Given the description of an element on the screen output the (x, y) to click on. 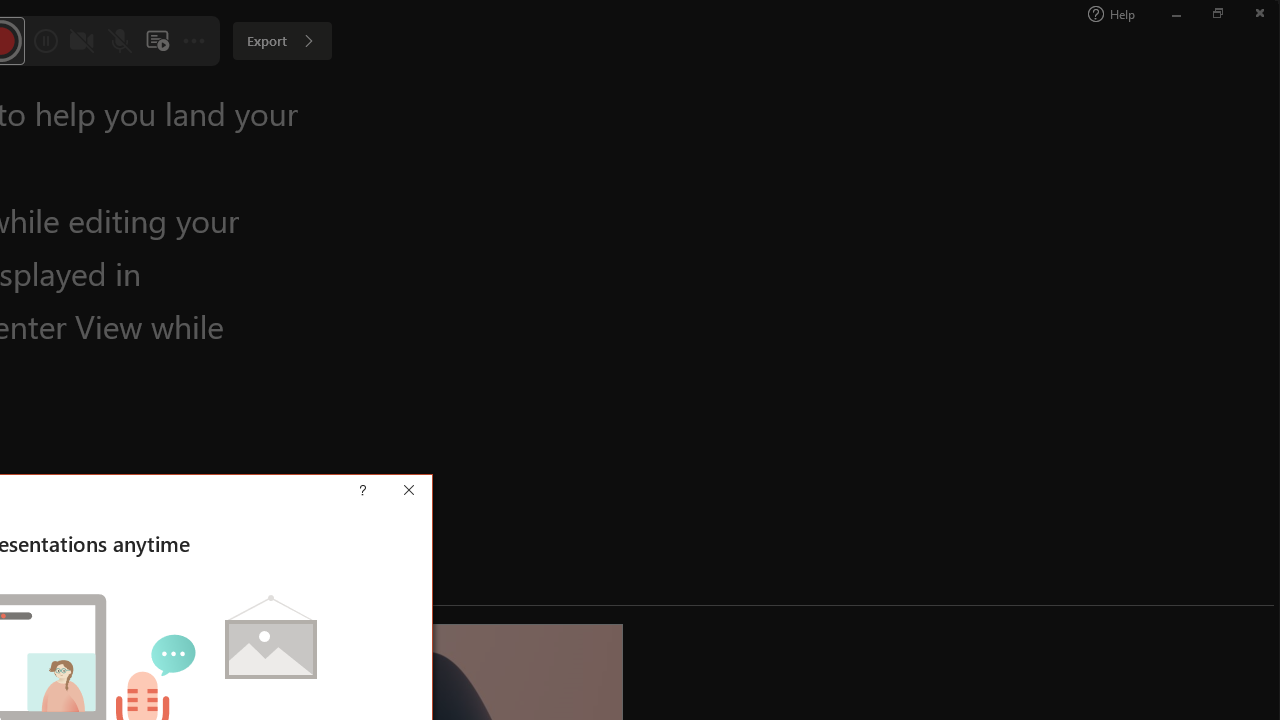
Circuit (79, 100)
Context help (392, 492)
Frame (450, 100)
Integral Variant 2 (768, 100)
Droplet (358, 100)
Slide Size (1056, 102)
Variants (1009, 120)
Integral Variant 1 (674, 100)
Integral Variant 4 (953, 100)
